Given the description of an element on the screen output the (x, y) to click on. 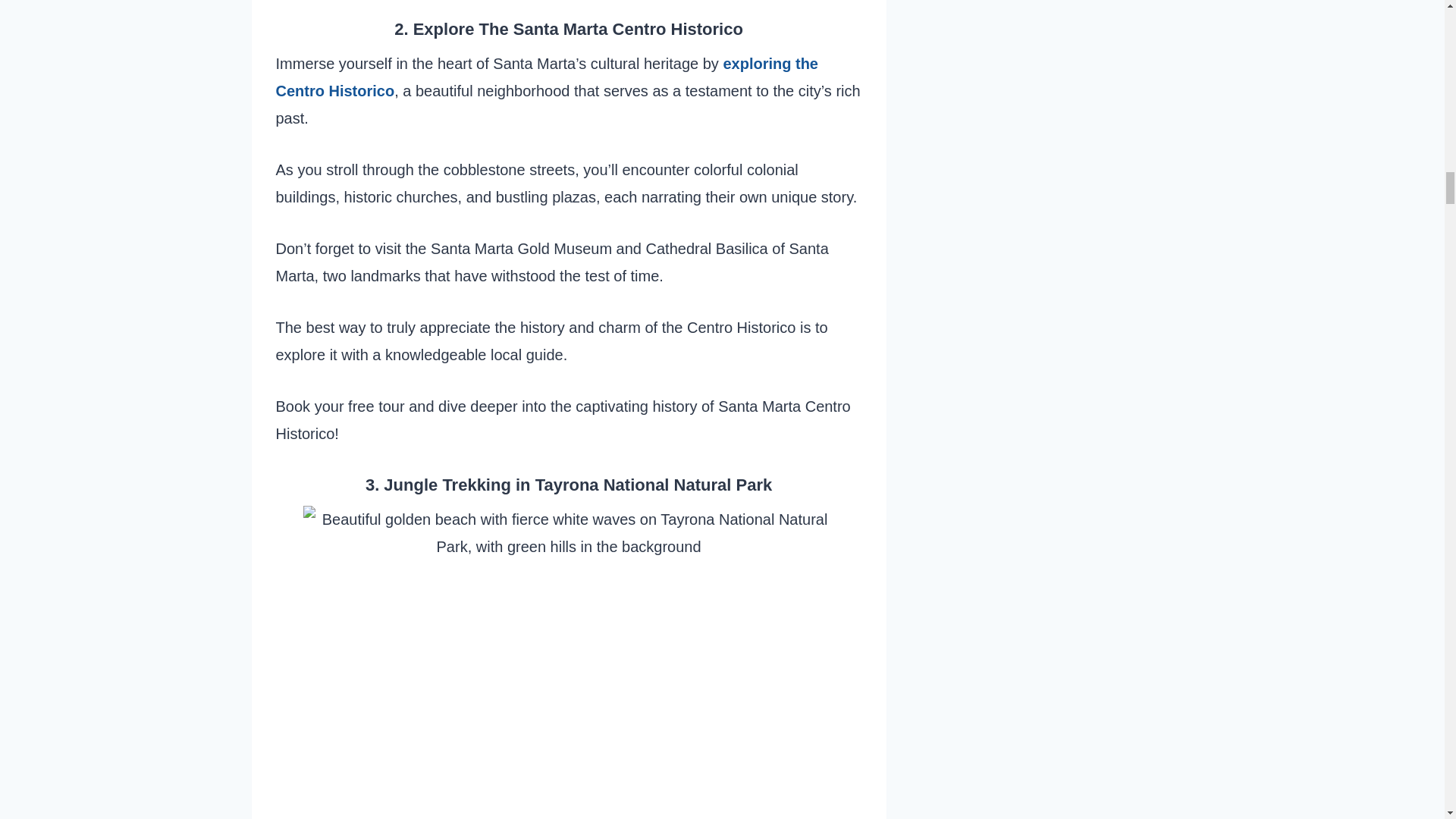
exploring the Centro Historico (547, 77)
2. Explore The Santa Marta Centro Historico (568, 28)
